Given the description of an element on the screen output the (x, y) to click on. 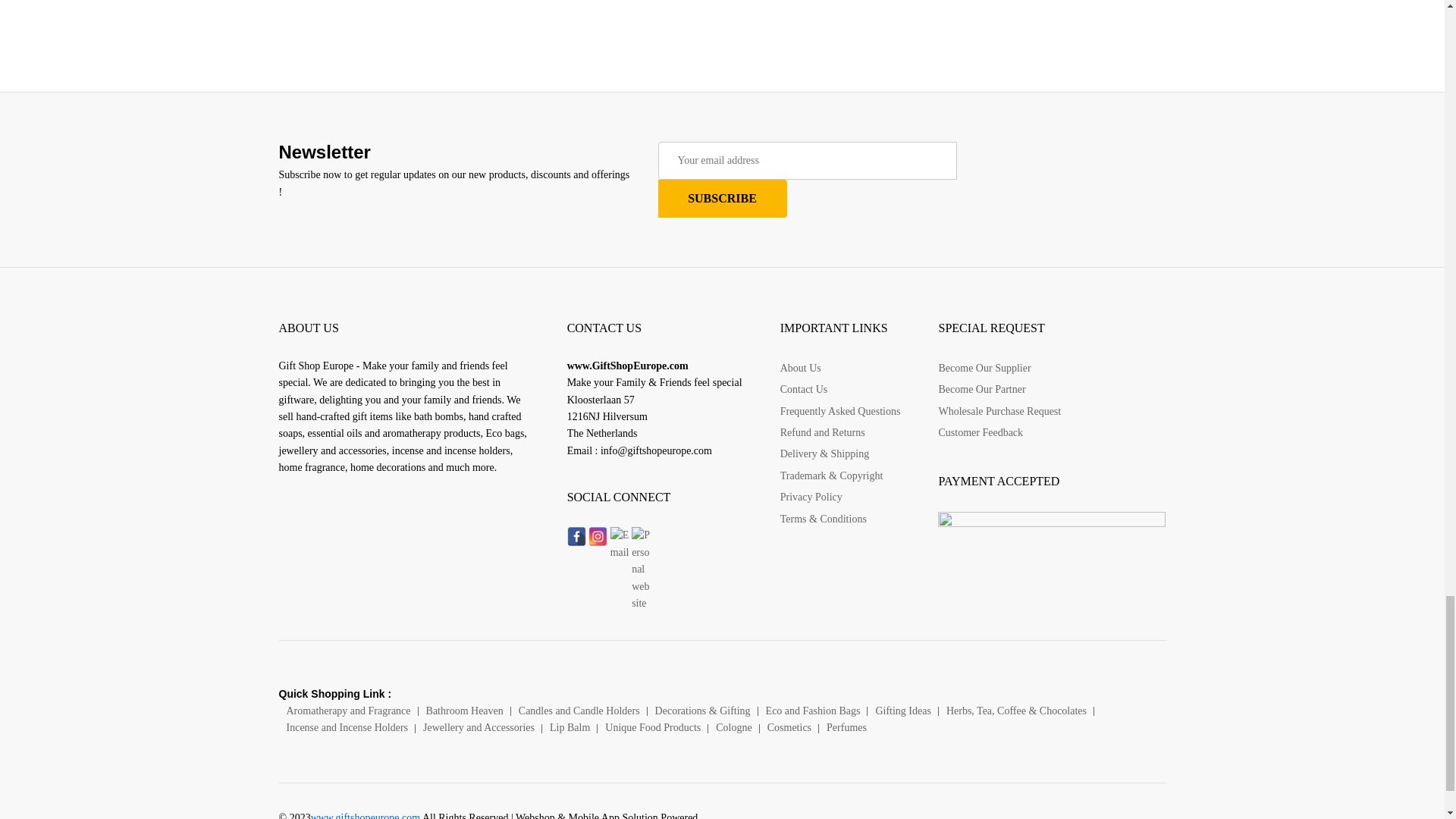
SUBSCRIBE (722, 198)
